Given the description of an element on the screen output the (x, y) to click on. 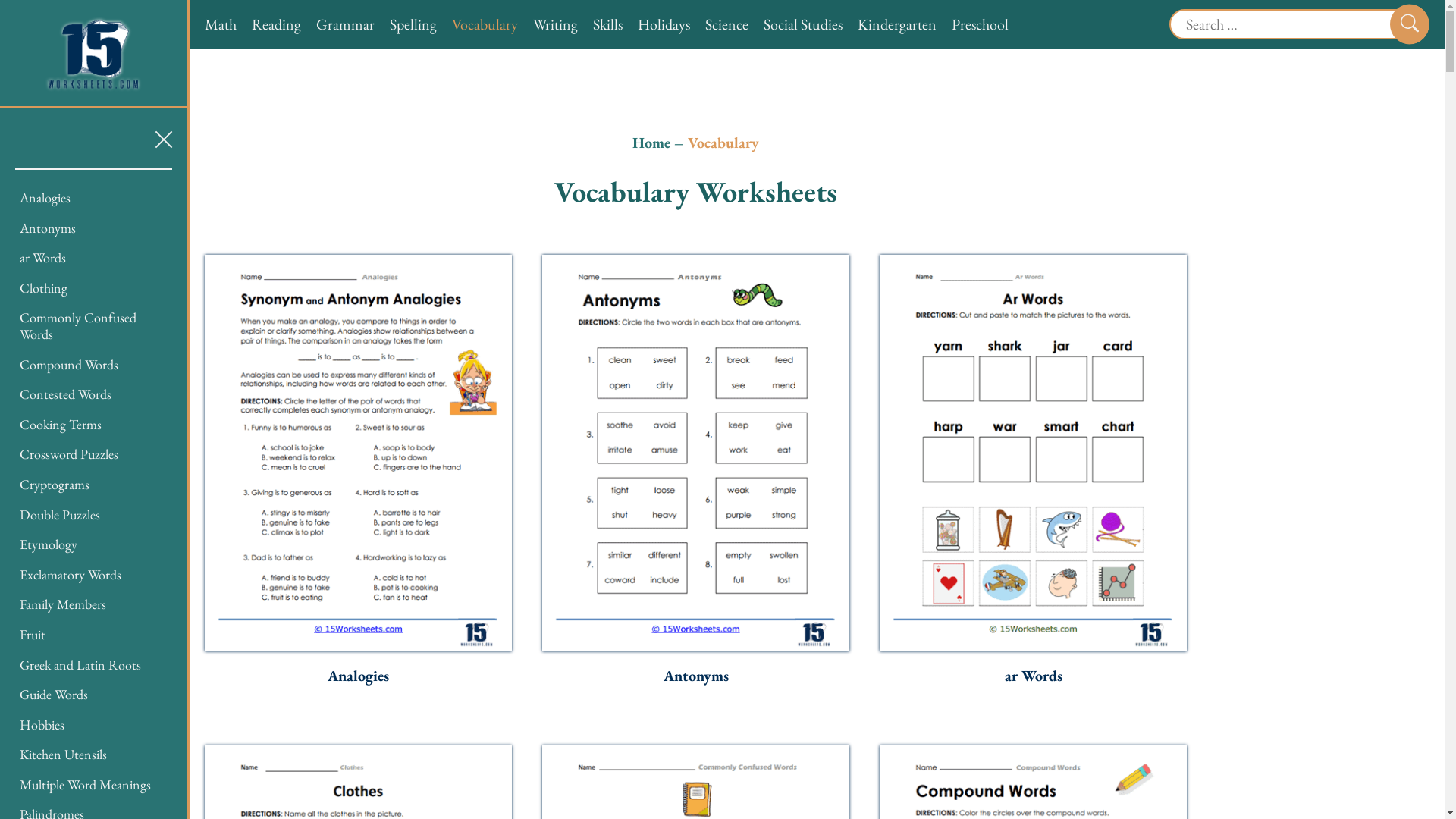
Cryptograms Element type: text (54, 483)
Cooking Terms Element type: text (60, 424)
Compound Words Element type: text (68, 364)
Spelling Element type: text (412, 24)
Exclamatory Words Element type: text (70, 574)
Antonyms Element type: text (695, 675)
Vocabulary Element type: text (484, 24)
Reading Element type: text (276, 24)
Commonly Confused Words Element type: text (77, 325)
Double Puzzles Element type: text (59, 514)
Social Studies Element type: text (802, 24)
Crossword Puzzles Element type: text (68, 453)
Hobbies Element type: text (41, 724)
Analogies Element type: text (358, 675)
Advertisement Element type: hover (1315, 614)
Antonyms Element type: text (47, 227)
Science Element type: text (726, 24)
Guide Words Element type: text (53, 693)
Analogies Element type: text (44, 197)
Family Members Element type: text (62, 603)
Writing Element type: text (555, 24)
Fruit Element type: text (32, 634)
Preschool Element type: text (979, 24)
Grammar Element type: text (345, 24)
Clothing Element type: text (43, 287)
Greek and Latin Roots Element type: text (80, 663)
Kindergarten Element type: text (896, 24)
ar Words Element type: text (1032, 675)
Holidays Element type: text (663, 24)
Home Element type: text (651, 142)
Advertisement Element type: hover (1315, 228)
Multiple Word Meanings Element type: text (84, 784)
Etymology Element type: text (48, 543)
Skills Element type: text (607, 24)
Search for: Element type: hover (1287, 24)
Kitchen Utensils Element type: text (62, 753)
Math Element type: text (220, 24)
Contested Words Element type: text (65, 393)
ar Words Element type: text (42, 257)
Advertisement Element type: hover (1315, 421)
